Given the description of an element on the screen output the (x, y) to click on. 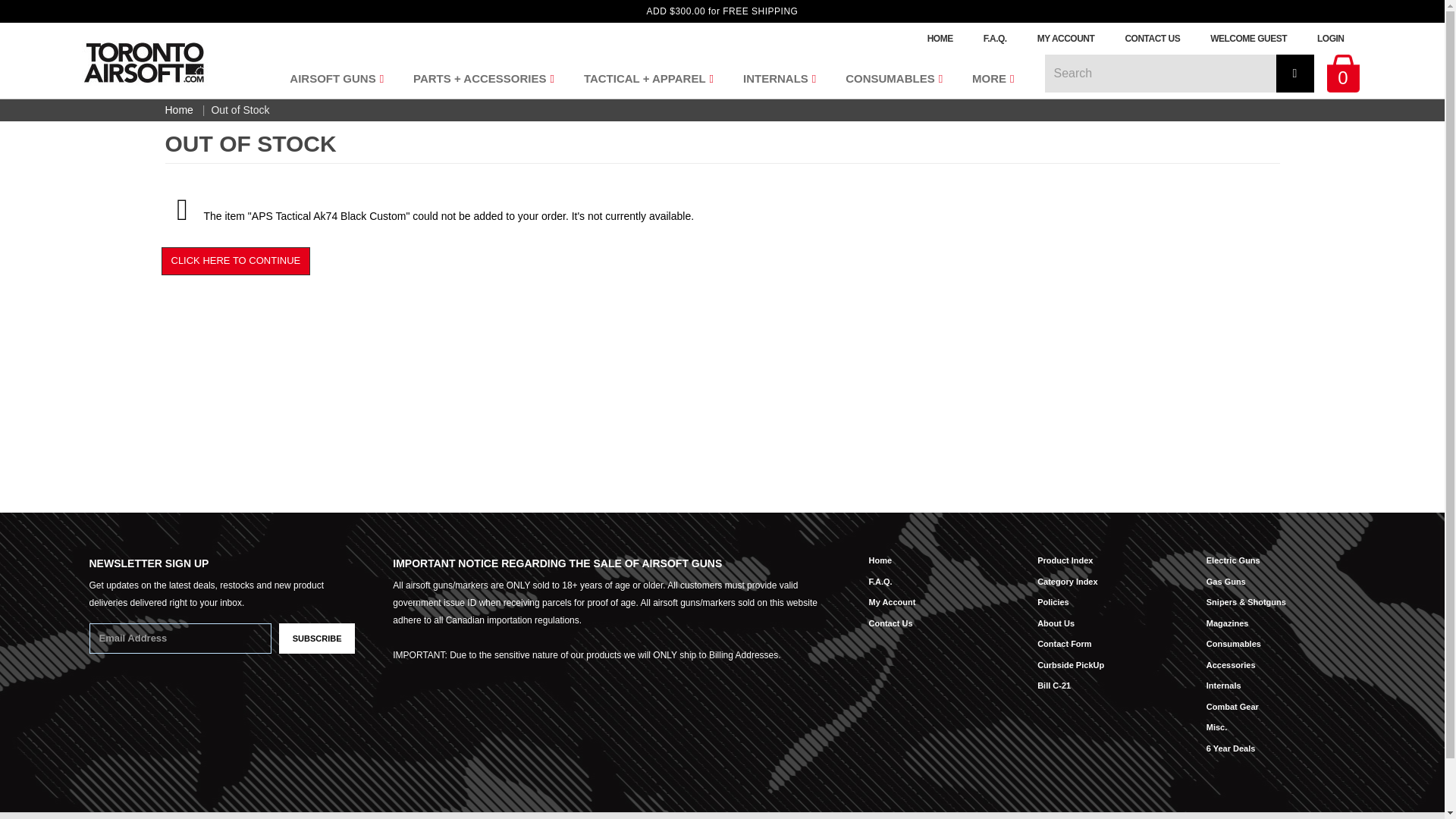
LOGIN (1330, 38)
F.A.Q. (995, 38)
CONTACT US (1152, 38)
MY ACCOUNT (1065, 38)
WELCOME GUEST (1248, 38)
Click here to continue (235, 261)
Login Welcome (1248, 38)
HOME (940, 38)
AIRSOFT GUNS (334, 78)
Login to Account (1330, 38)
0 (1342, 81)
